Given the description of an element on the screen output the (x, y) to click on. 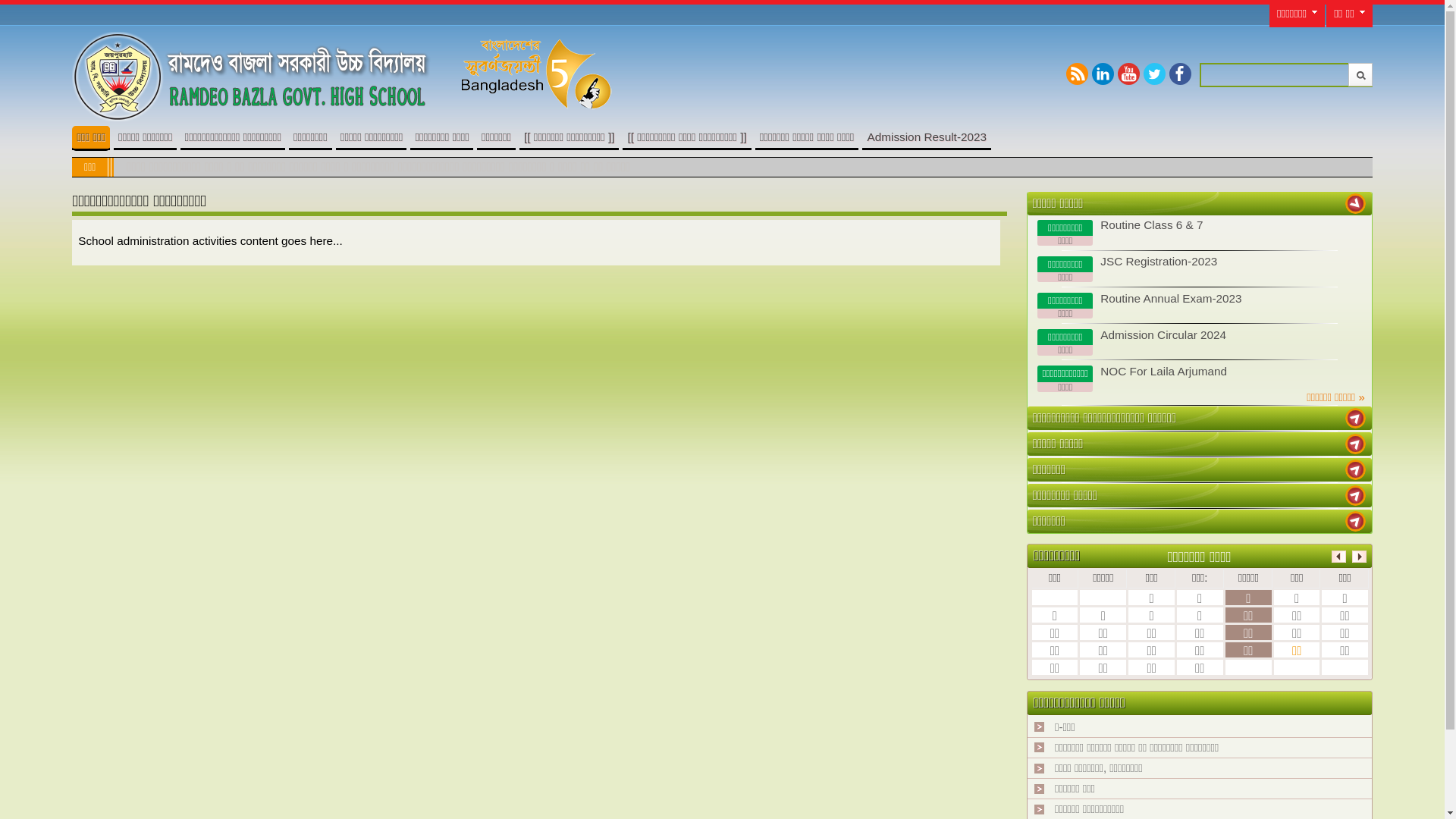
  Element type: text (1355, 417)
  Element type: text (1355, 521)
  Element type: text (1355, 469)
  Element type: text (1355, 443)
Submit Element type: text (1360, 74)
Admission Result-2023 Element type: text (926, 136)
  Element type: text (1355, 495)
  Element type: text (1355, 203)
